Given the description of an element on the screen output the (x, y) to click on. 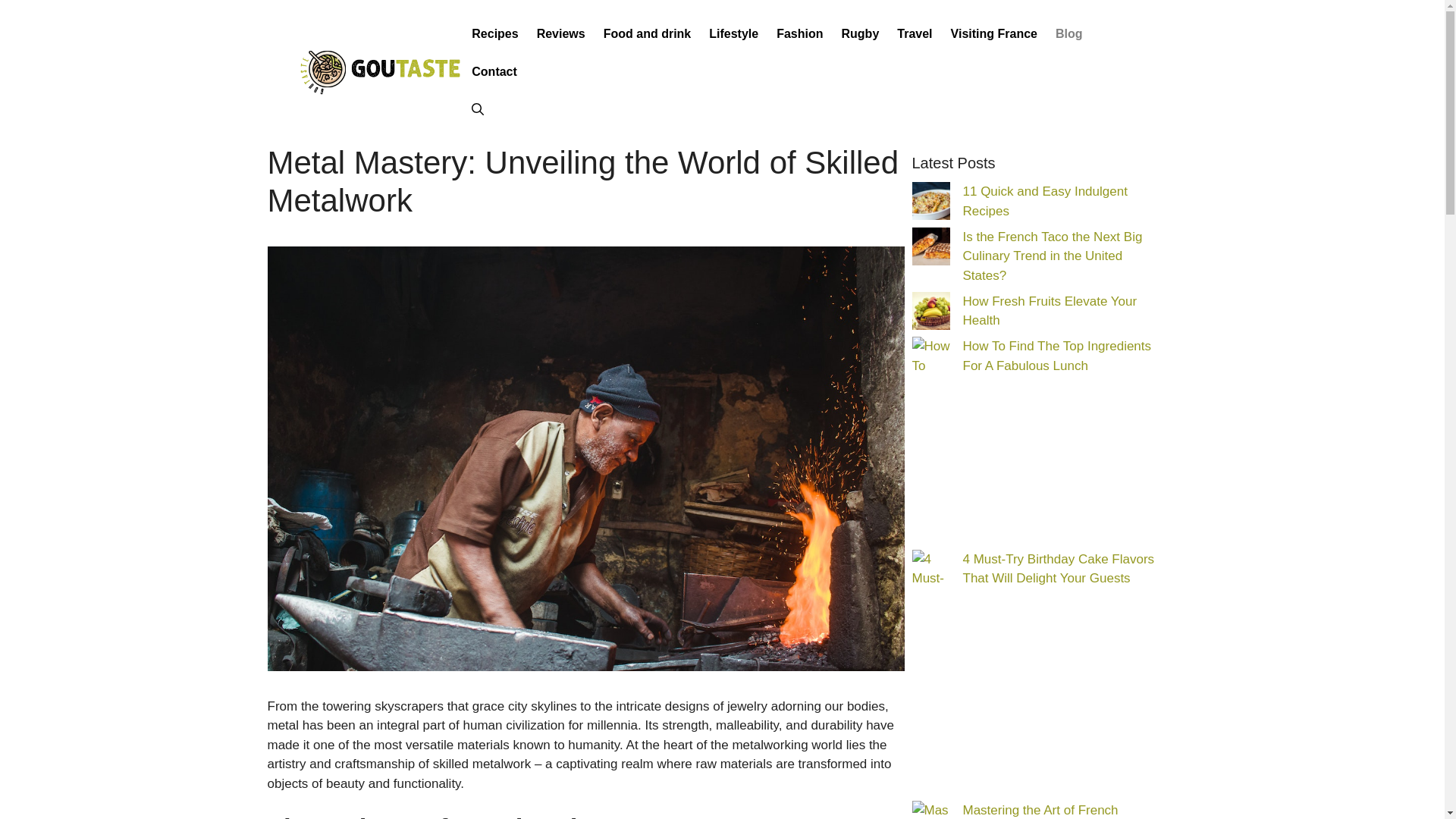
Fashion (799, 34)
Contact (494, 71)
Reviews (560, 34)
Recipes (495, 34)
Food and drink (647, 34)
11 Quick and Easy Indulgent Recipes (1044, 201)
How Fresh Fruits Elevate Your Health (1049, 311)
Visiting France (994, 34)
